Given the description of an element on the screen output the (x, y) to click on. 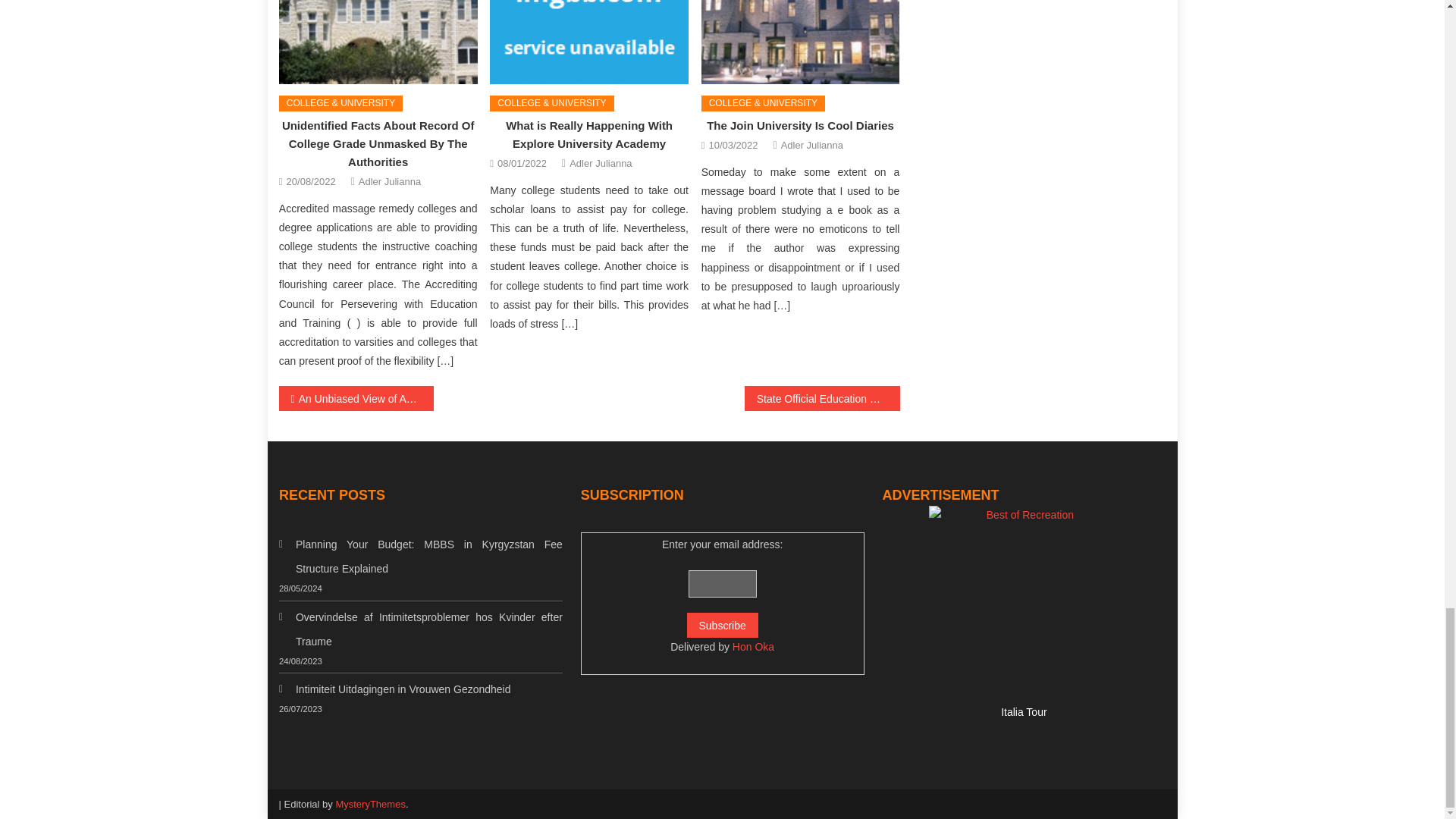
Subscribe (722, 625)
Adler Julianna (389, 181)
What is Really Happening With Explore University Academy (588, 42)
The Join University Is Cool Diaries (799, 124)
The Join University Is Cool Diaries (800, 42)
Adler Julianna (600, 162)
What is Really Happening With Explore University Academy (588, 133)
Adler Julianna (811, 144)
